Given the description of an element on the screen output the (x, y) to click on. 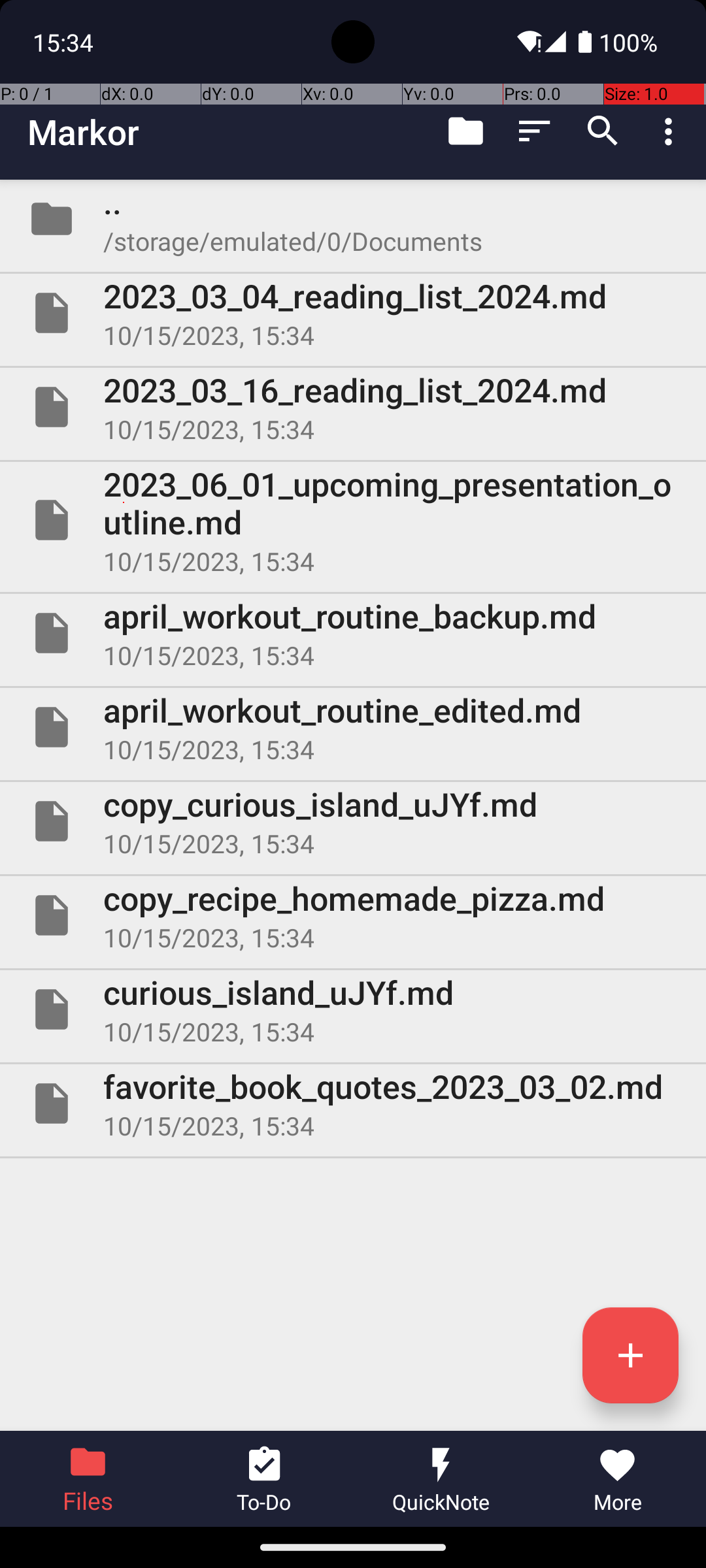
File 2023_03_04_reading_list_2024.md  Element type: android.widget.LinearLayout (353, 312)
File 2023_03_16_reading_list_2024.md  Element type: android.widget.LinearLayout (353, 406)
File 2023_06_01_upcoming_presentation_outline.md  Element type: android.widget.LinearLayout (353, 519)
File april_workout_routine_backup.md  Element type: android.widget.LinearLayout (353, 632)
File april_workout_routine_edited.md  Element type: android.widget.LinearLayout (353, 726)
File copy_curious_island_uJYf.md  Element type: android.widget.LinearLayout (353, 821)
File copy_recipe_homemade_pizza.md  Element type: android.widget.LinearLayout (353, 915)
File curious_island_uJYf.md  Element type: android.widget.LinearLayout (353, 1009)
File favorite_book_quotes_2023_03_02.md  Element type: android.widget.LinearLayout (353, 1103)
